Given the description of an element on the screen output the (x, y) to click on. 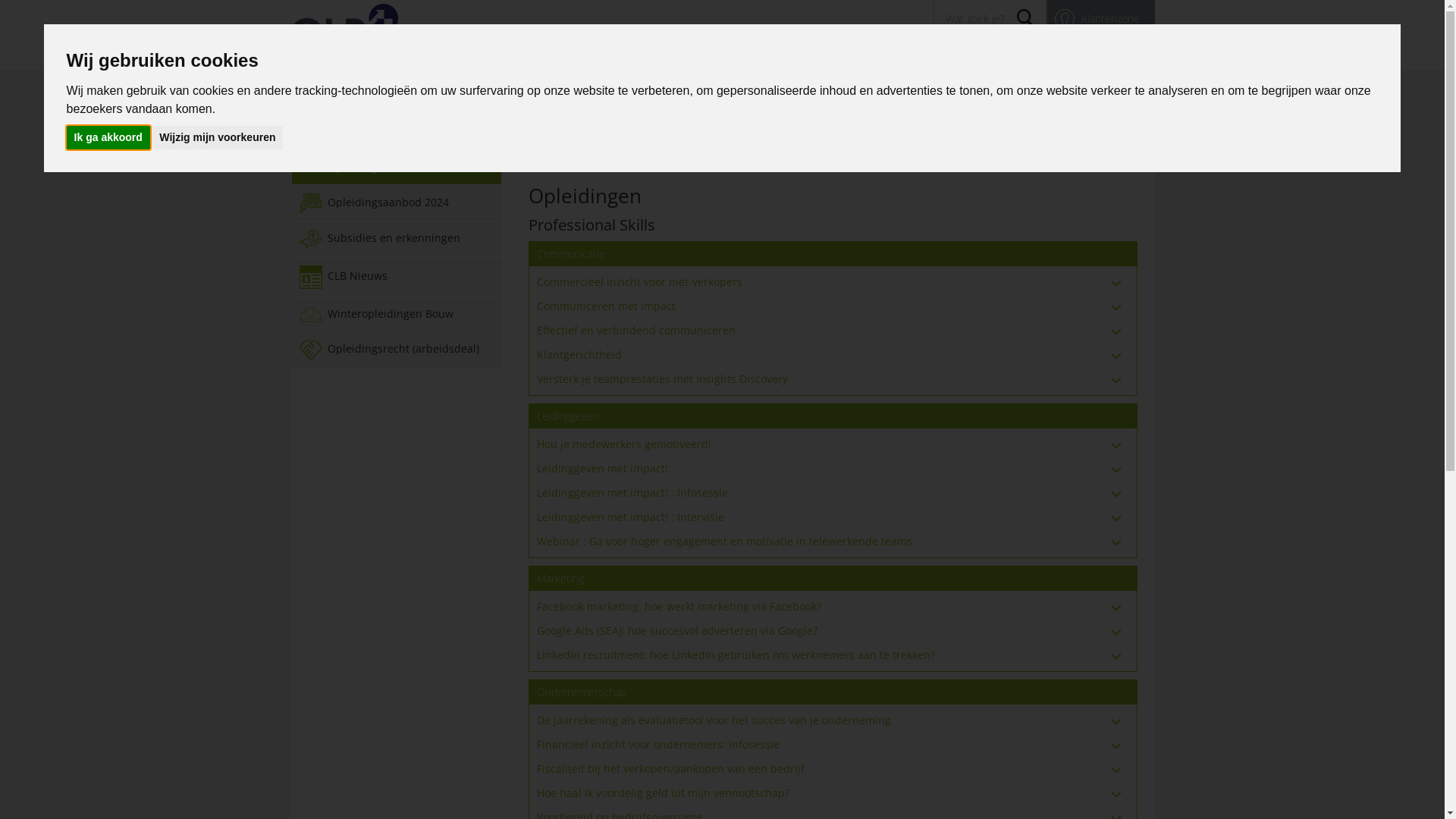
Klanten aan het woord Element type: text (852, 53)
Opleidingsaanbod 2024 Element type: text (396, 202)
IT Solutions Element type: text (722, 90)
Nieuws Element type: text (704, 53)
Ondernemerschap Element type: text (581, 691)
Academy Element type: text (1092, 90)
Subsidies en erkenningen Element type: text (396, 239)
Consult Element type: text (474, 90)
Sociaal Secretariaat Element type: text (351, 90)
Onze partners Element type: text (1119, 53)
Winteropleidingen Bouw Element type: text (396, 314)
CLB Nieuws Element type: text (1047, 53)
Verzekeringen Element type: text (598, 90)
Opleidingsrecht (arbeidsdeal) Element type: text (396, 349)
Externe Preventie Element type: text (845, 90)
Ik ga akkoord Element type: text (108, 137)
Communicatie Element type: text (570, 253)
CLB Group Element type: text (324, 130)
Opleidingen Element type: text (396, 167)
Marketing Element type: text (559, 578)
Search Element type: text (1024, 18)
Over ons Element type: text (655, 53)
Opleidingen Element type: text (760, 53)
Klantenzone Element type: text (1100, 18)
Academy Element type: text (381, 130)
CLB Nieuws Element type: text (396, 276)
Contact Element type: text (990, 53)
Vacatures Element type: text (939, 53)
Wijzig mijn voorkeuren Element type: text (216, 137)
Leidinggeven Element type: text (567, 415)
Medische Controle & Advies Element type: text (969, 90)
